Given the description of an element on the screen output the (x, y) to click on. 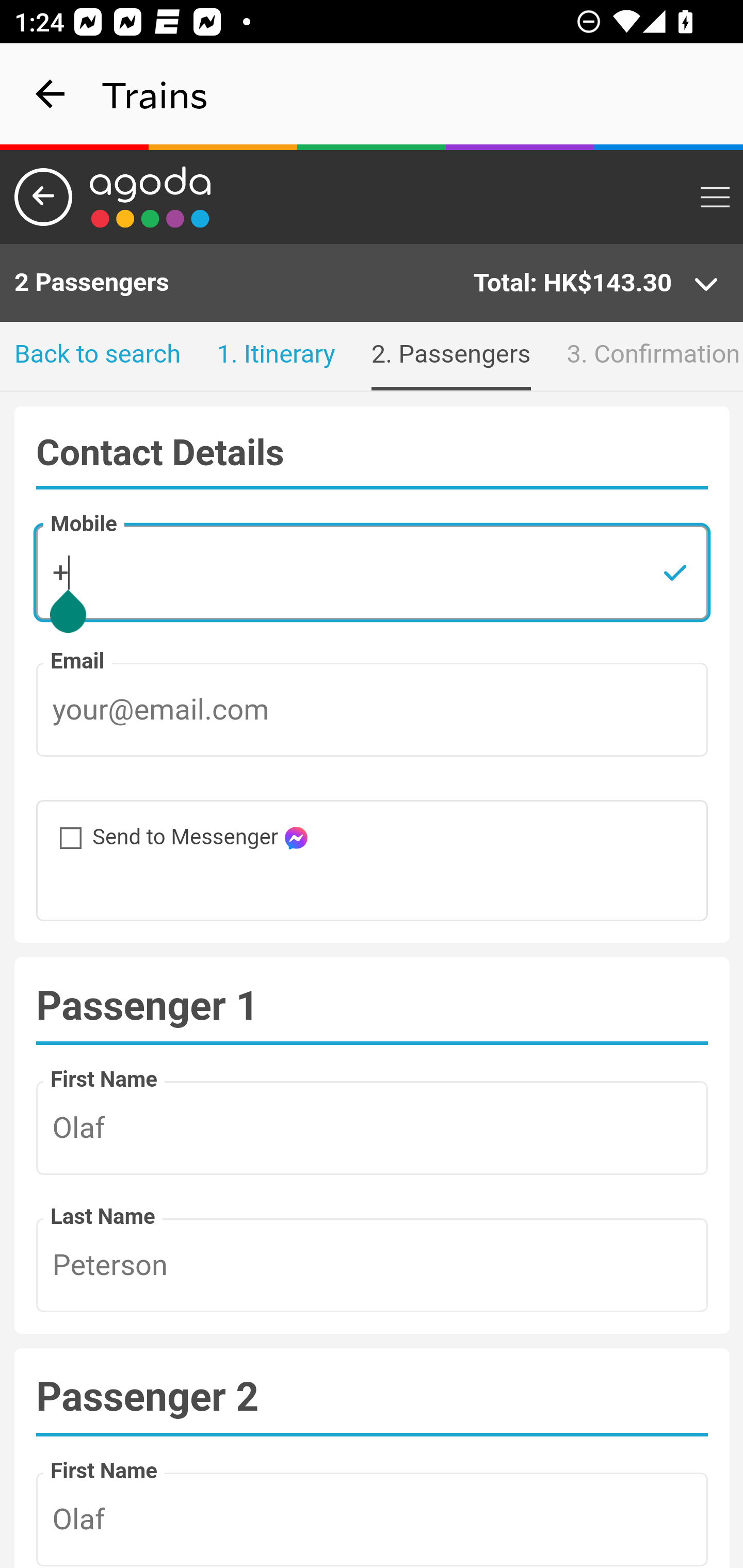
navigation_button (50, 93)
Link to main page 5418 (150, 197)
Total: HK$143.30 (596, 283)
Back to search (98, 355)
1. Itinerary (275, 355)
2. Passengers (450, 355)
+ (372, 572)
Send to Messenger (59, 827)
